Given the description of an element on the screen output the (x, y) to click on. 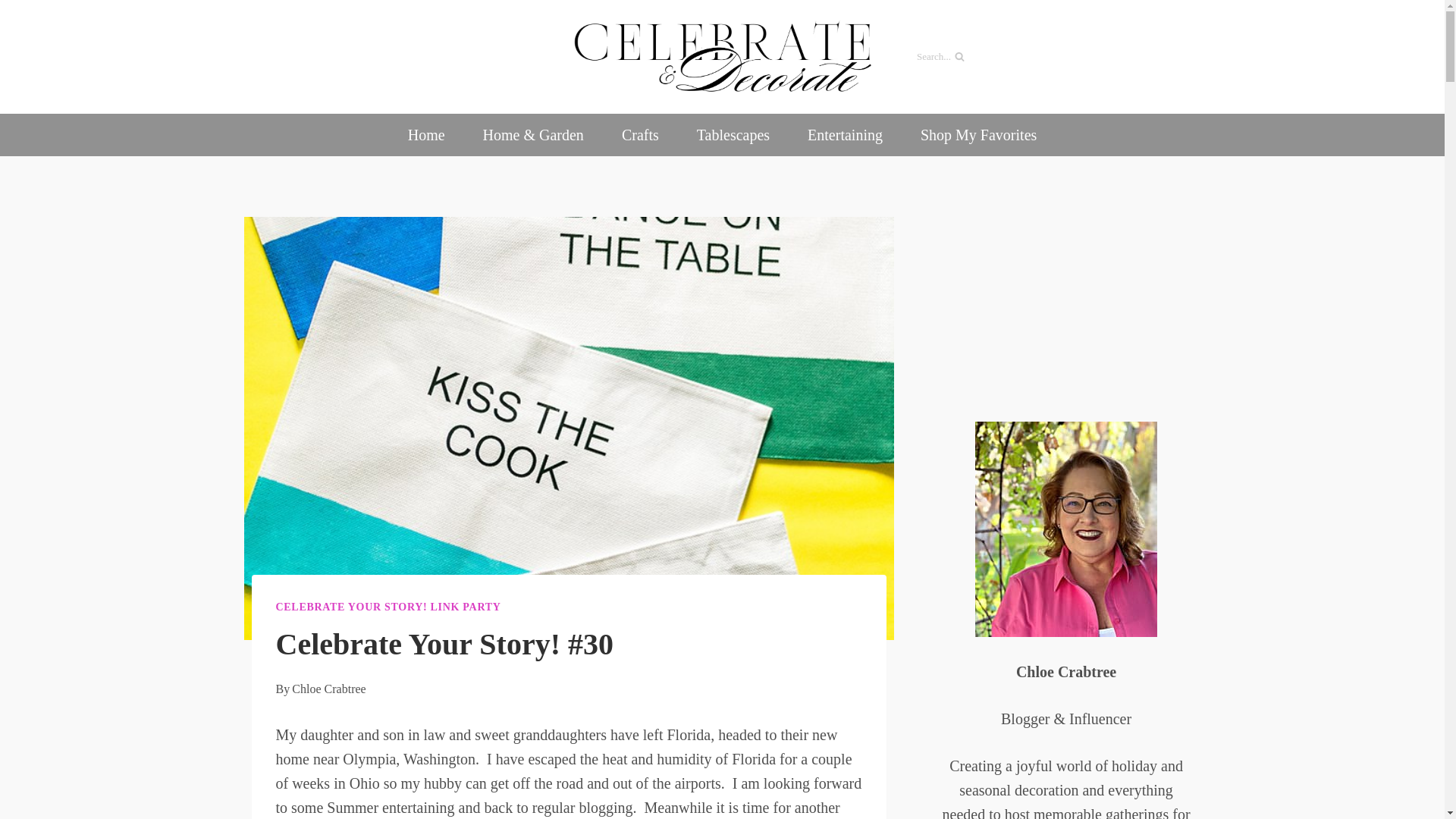
Search... (996, 56)
Tablescapes (733, 134)
Crafts (640, 134)
Chloe Crabtree (328, 688)
Entertaining (845, 134)
Shop My Favorites (978, 134)
Home (426, 134)
CELEBRATE YOUR STORY! LINK PARTY (388, 606)
